Given the description of an element on the screen output the (x, y) to click on. 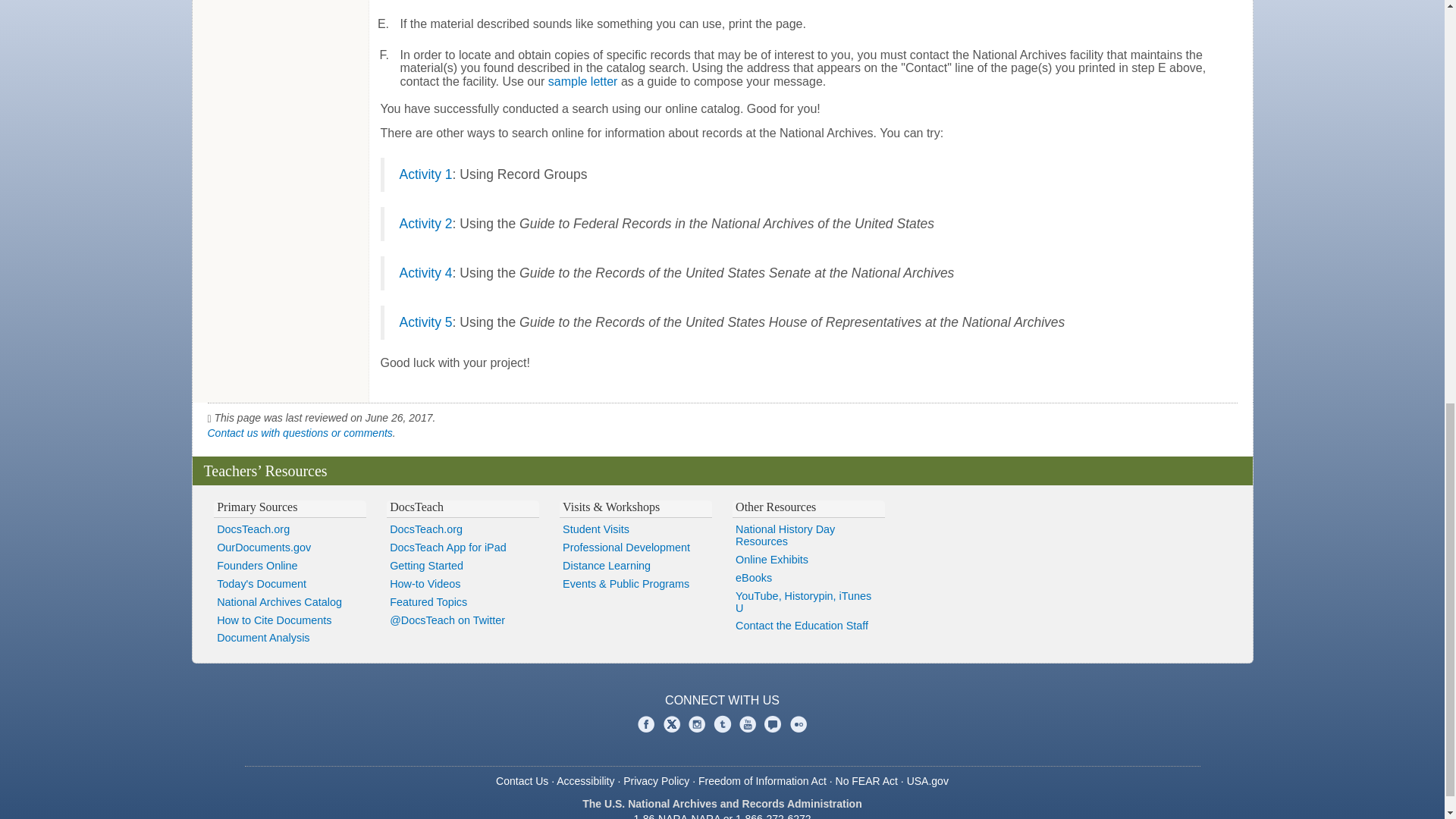
Activity 1 (424, 174)
DocsTeach.org (290, 529)
OurDocuments.gov (290, 547)
Today's Document (290, 584)
Activity 4 (424, 272)
Founders Online (290, 566)
Contact us with questions or comments (300, 432)
Activity 2 (424, 223)
How to Cite Documents (290, 619)
Activity 5 (424, 322)
